Given the description of an element on the screen output the (x, y) to click on. 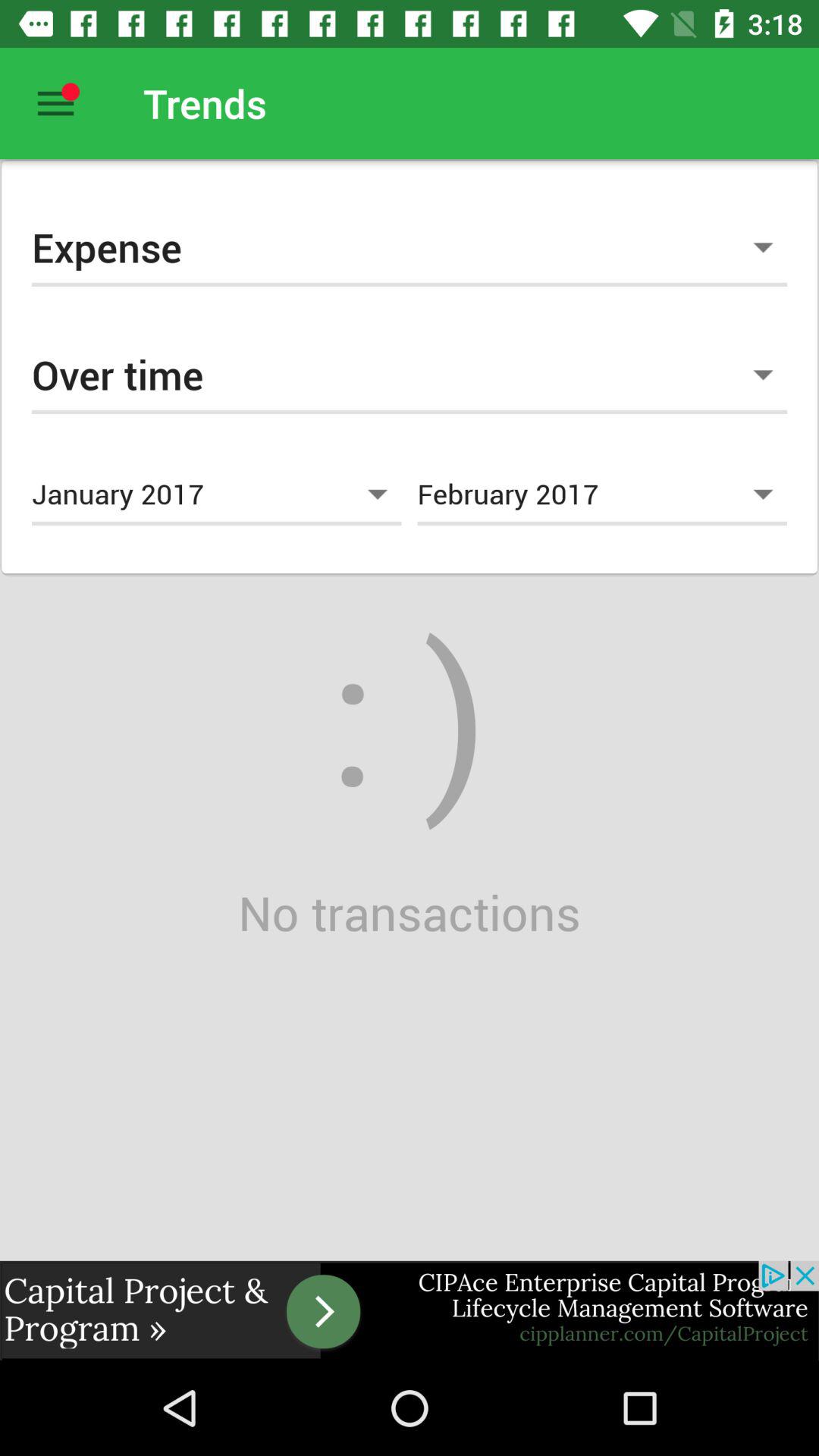
advertisement link (409, 1310)
